Given the description of an element on the screen output the (x, y) to click on. 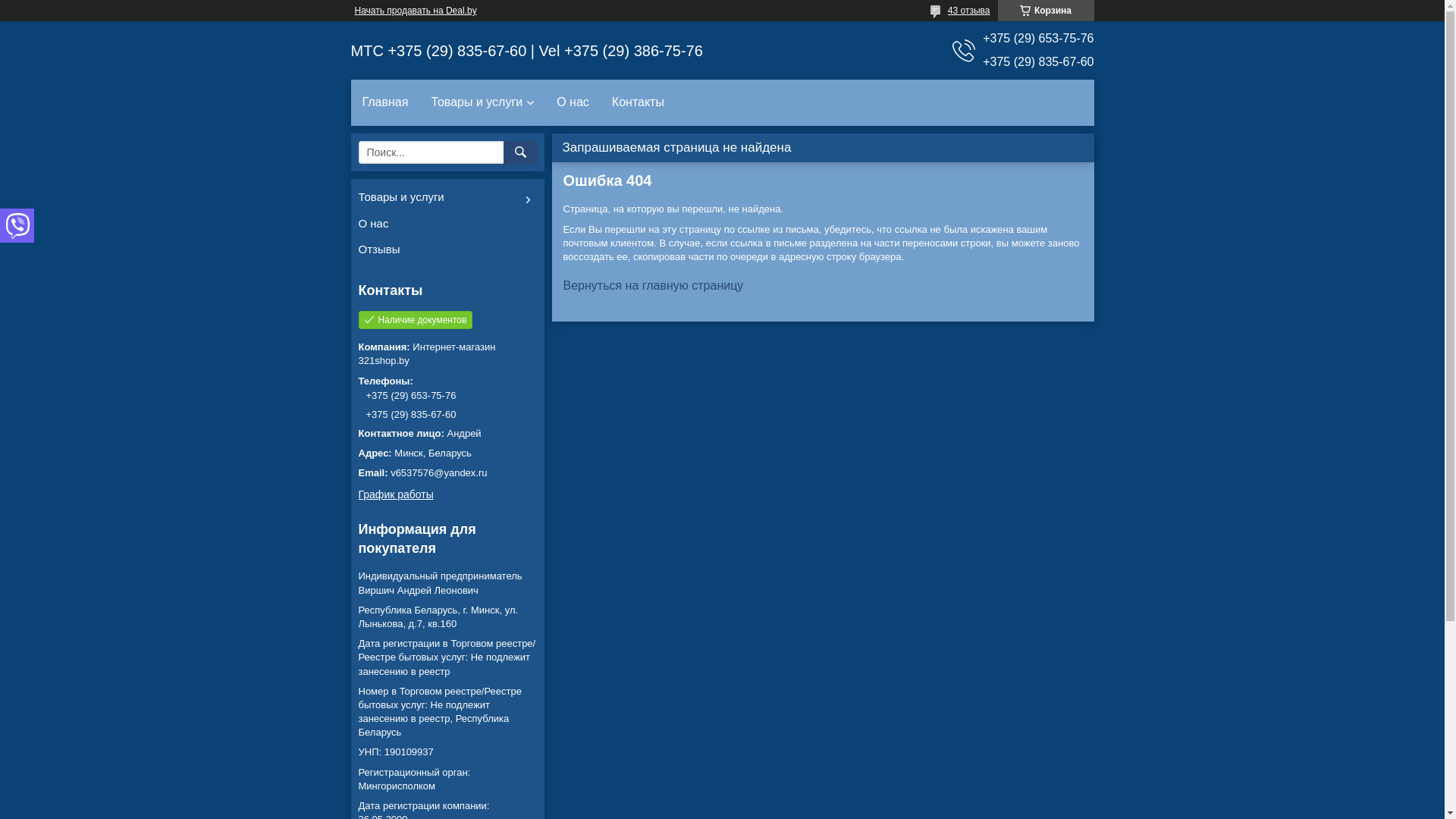
v6537576@yandex.ru Element type: text (446, 473)
